Given the description of an element on the screen output the (x, y) to click on. 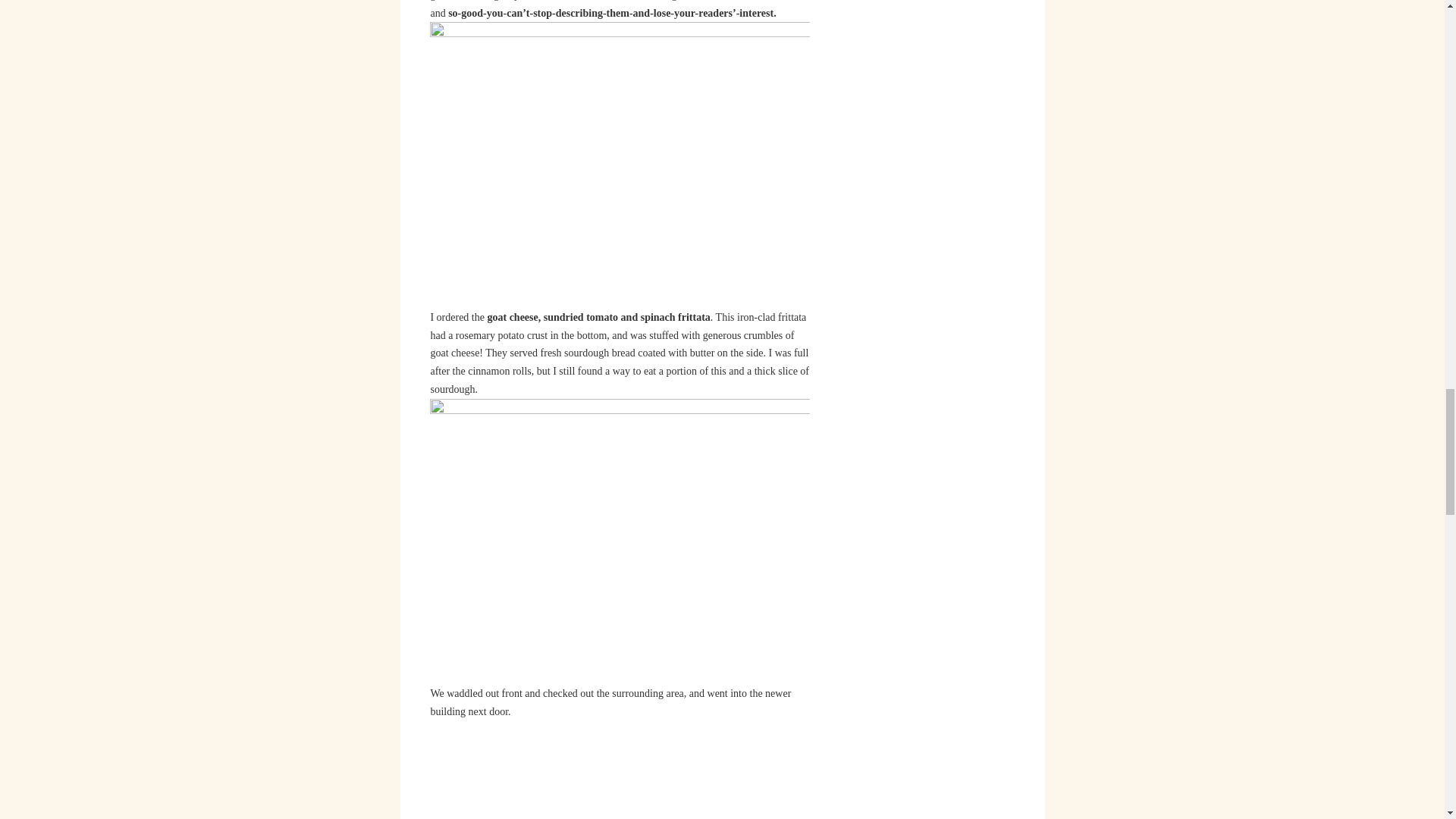
AM11 (619, 770)
AM10 (619, 540)
AM9 (619, 164)
